Given the description of an element on the screen output the (x, y) to click on. 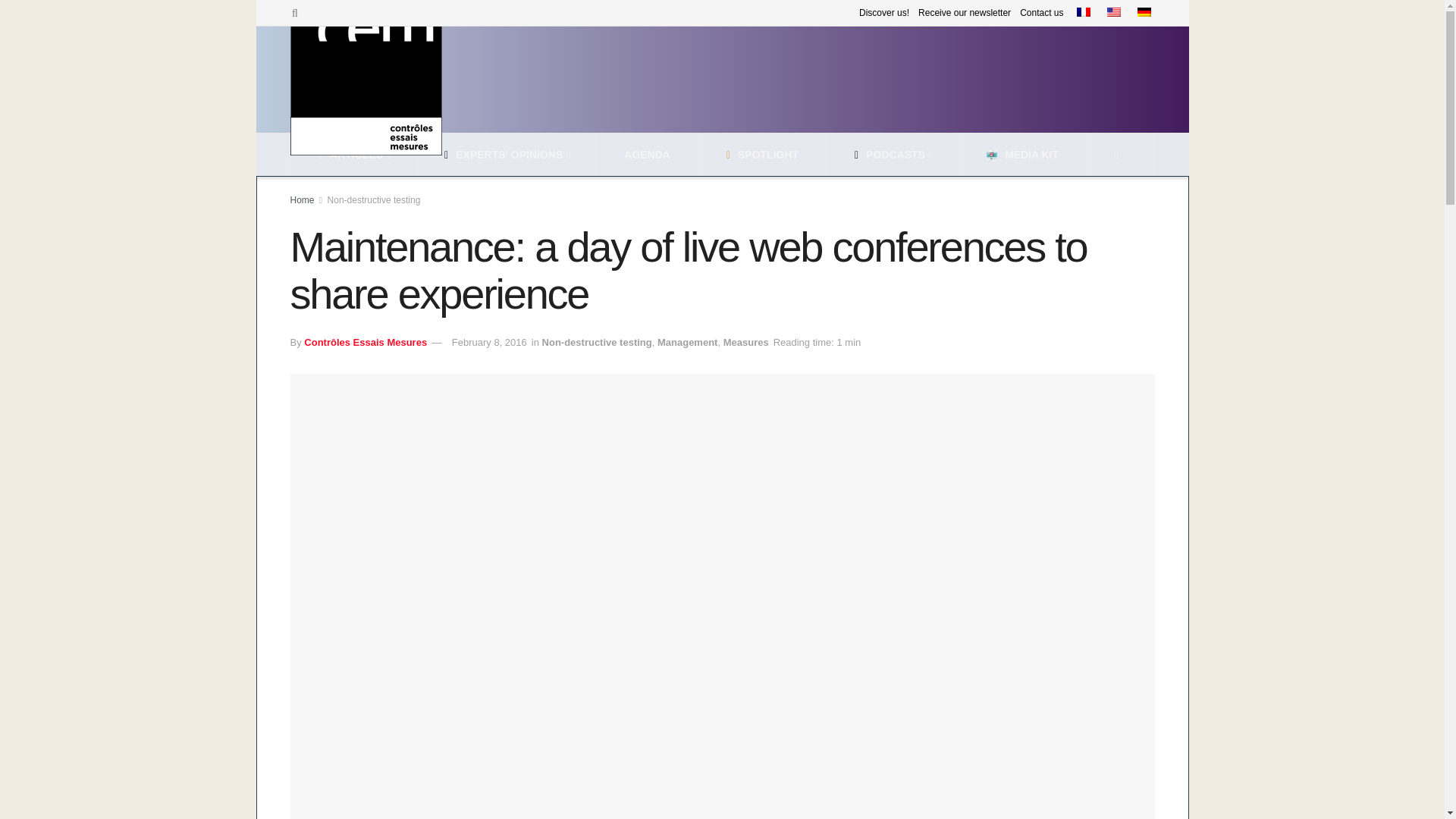
EXPERTS' OPINIONS (505, 154)
AGENDA (646, 154)
German (1144, 11)
ARTICLES (353, 154)
Discover us! (883, 12)
Contact us (1041, 12)
English (1113, 11)
Receive our newsletter (964, 12)
French (1083, 11)
SPOTLIGHT (761, 154)
